Given the description of an element on the screen output the (x, y) to click on. 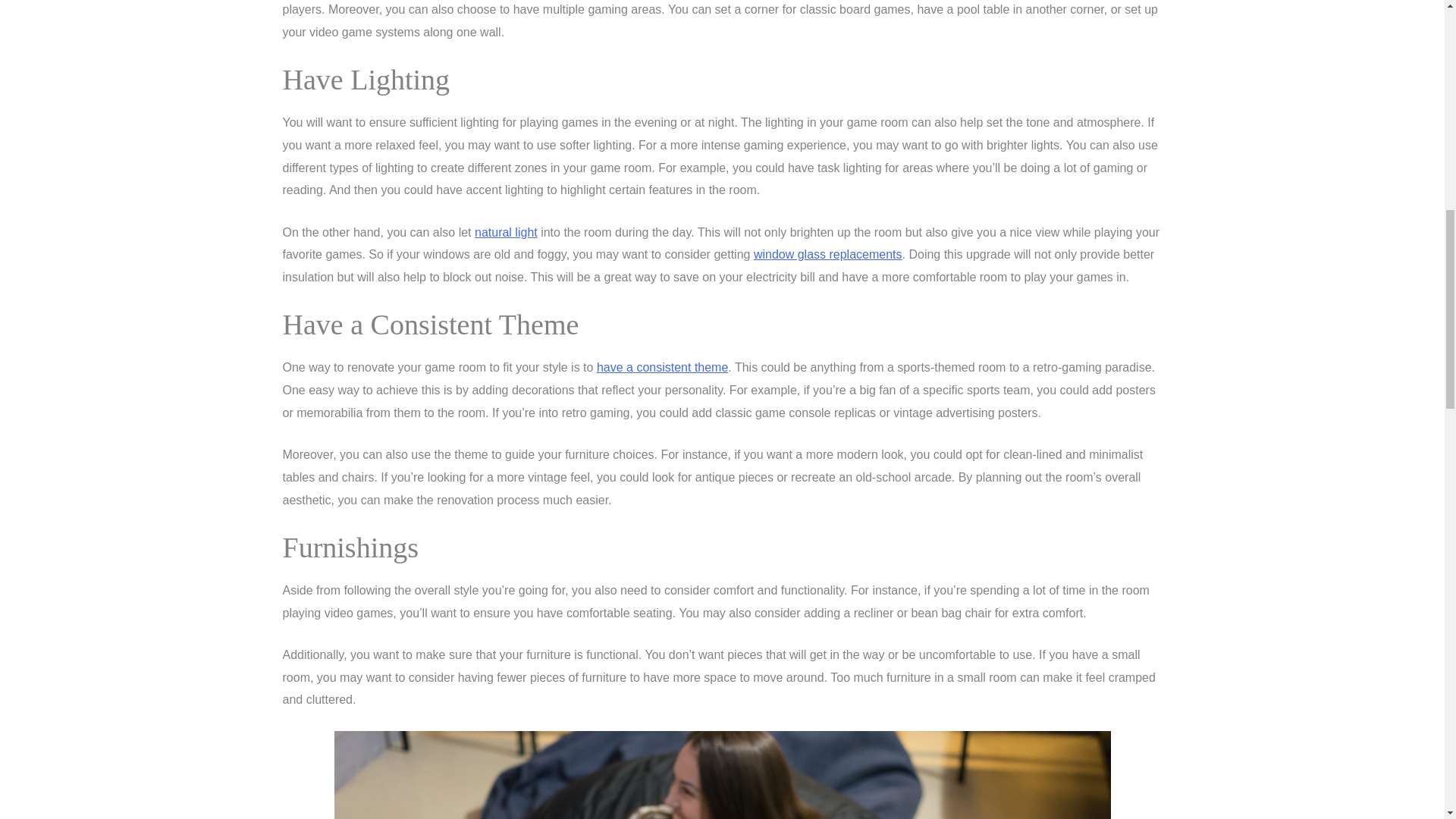
Comfortable Furniture (721, 775)
have a consistent theme (662, 367)
window glass replacements (828, 254)
natural light (505, 232)
